Given the description of an element on the screen output the (x, y) to click on. 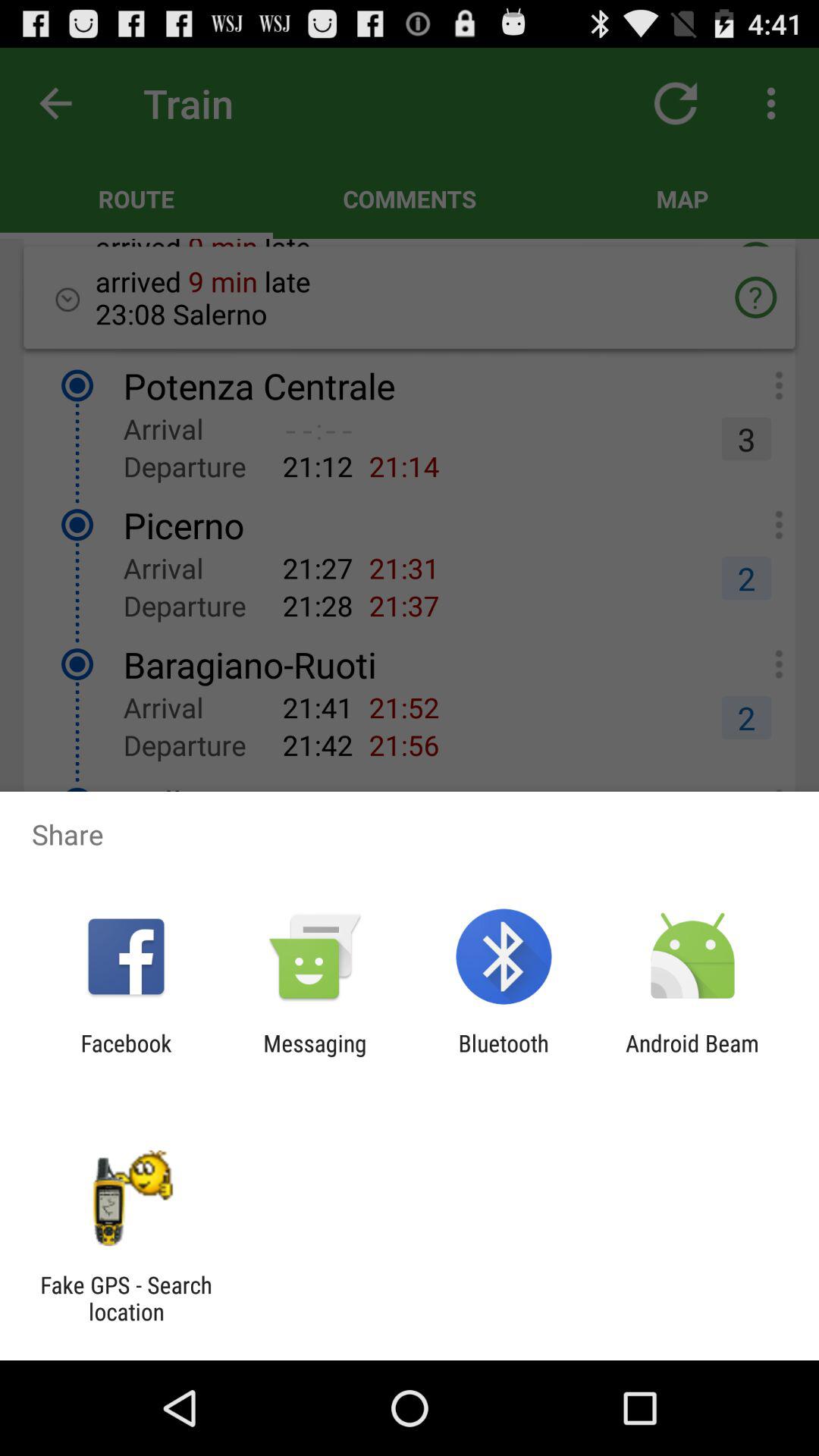
select the item to the right of the bluetooth (692, 1056)
